Given the description of an element on the screen output the (x, y) to click on. 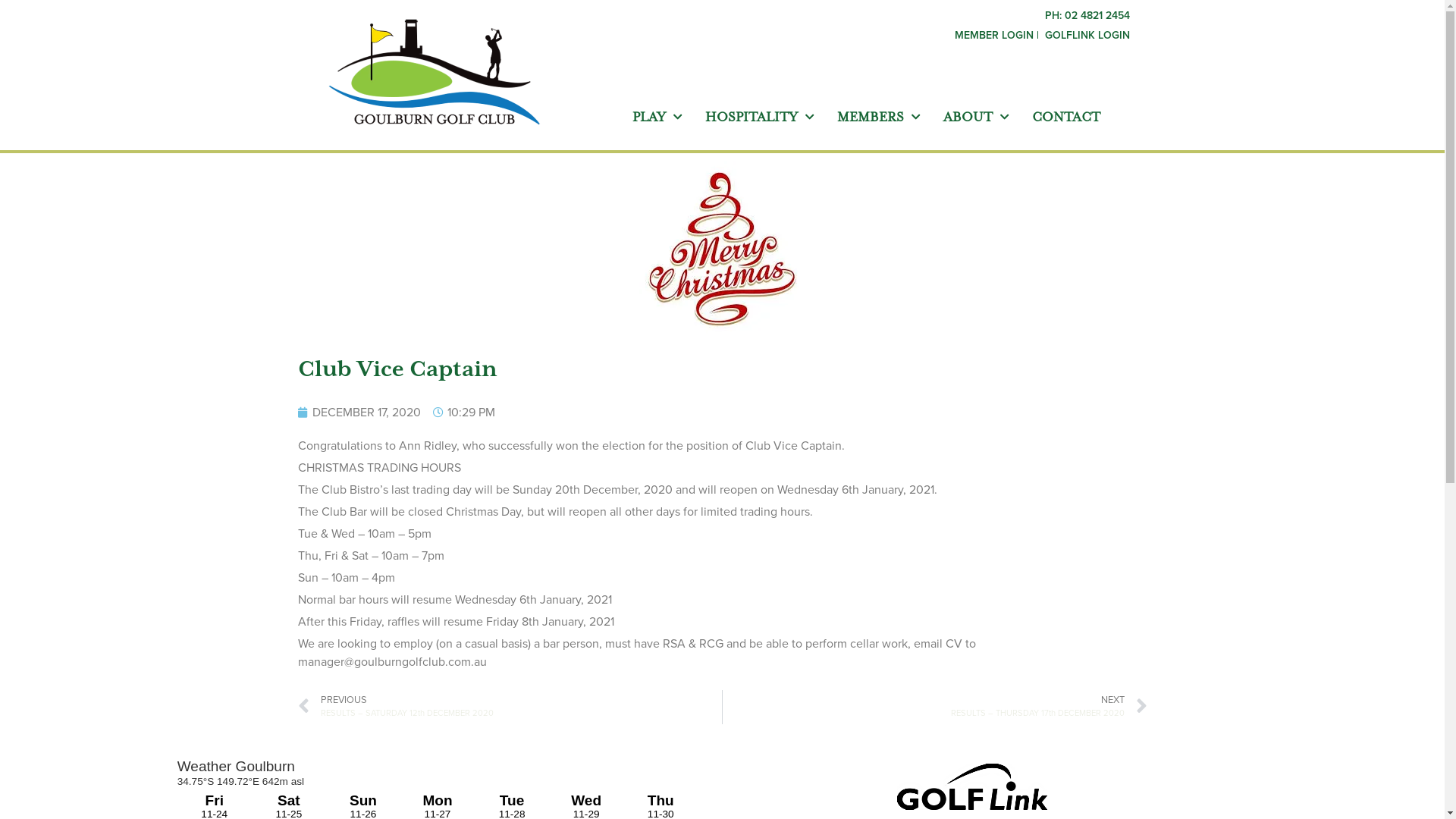
CONTACT Element type: text (1065, 116)
GOLFLINK LOGIN Element type: text (1086, 34)
MEMBER LOGIN Element type: text (995, 34)
ABOUT Element type: text (975, 116)
DECEMBER 17, 2020 Element type: text (358, 412)
PLAY Element type: text (657, 116)
HOSPITALITY Element type: text (759, 116)
MEMBERS Element type: text (878, 116)
